Given the description of an element on the screen output the (x, y) to click on. 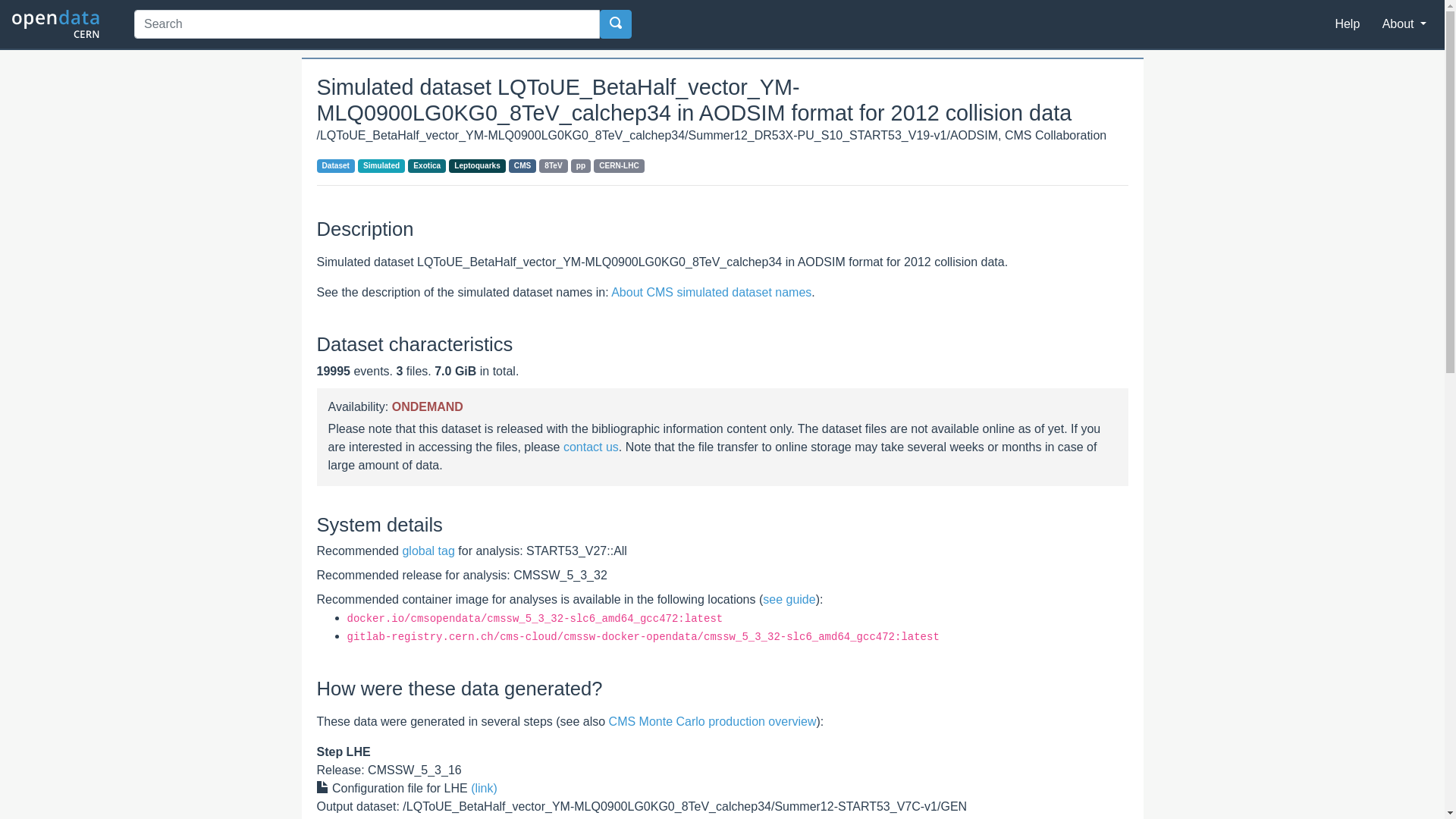
Simulated Element type: text (380, 165)
Exotica Element type: text (426, 165)
CMS Element type: text (522, 165)
About CMS simulated dataset names Element type: text (711, 291)
Leptoquarks Element type: text (476, 165)
pp Element type: text (580, 165)
global tag Element type: text (427, 550)
CERN-LHC Element type: text (618, 165)
see guide Element type: text (788, 599)
Help Element type: text (1346, 24)
Dataset Element type: text (335, 165)
8TeV Element type: text (553, 165)
contact us Element type: text (590, 446)
CMS Monte Carlo production overview Element type: text (712, 721)
(link) Element type: text (483, 787)
About Element type: text (1404, 24)
